Given the description of an element on the screen output the (x, y) to click on. 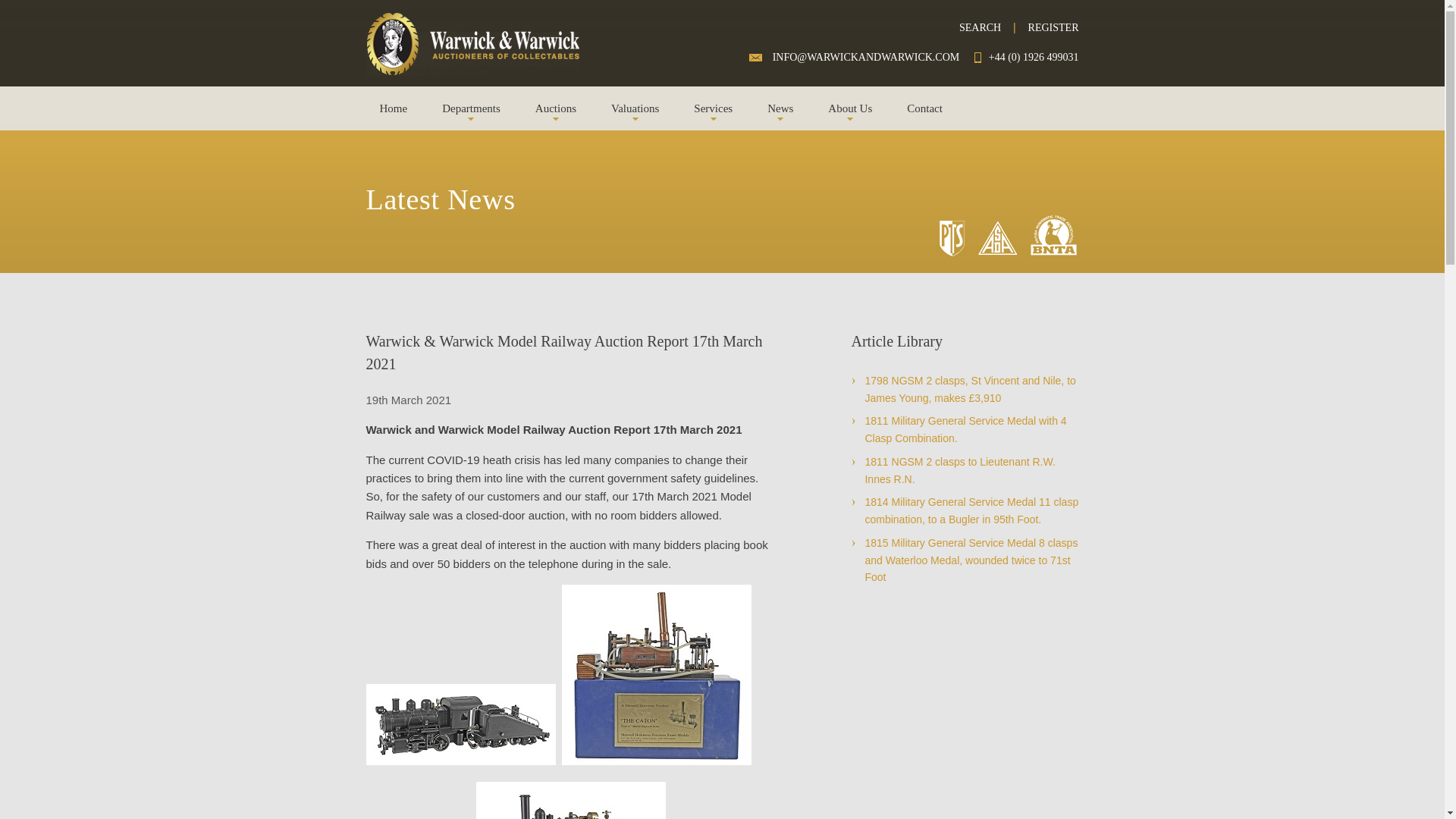
REGISTER (1052, 27)
SEARCH (980, 27)
Valuations (635, 108)
Auctions (555, 108)
Departments (471, 108)
